Given the description of an element on the screen output the (x, y) to click on. 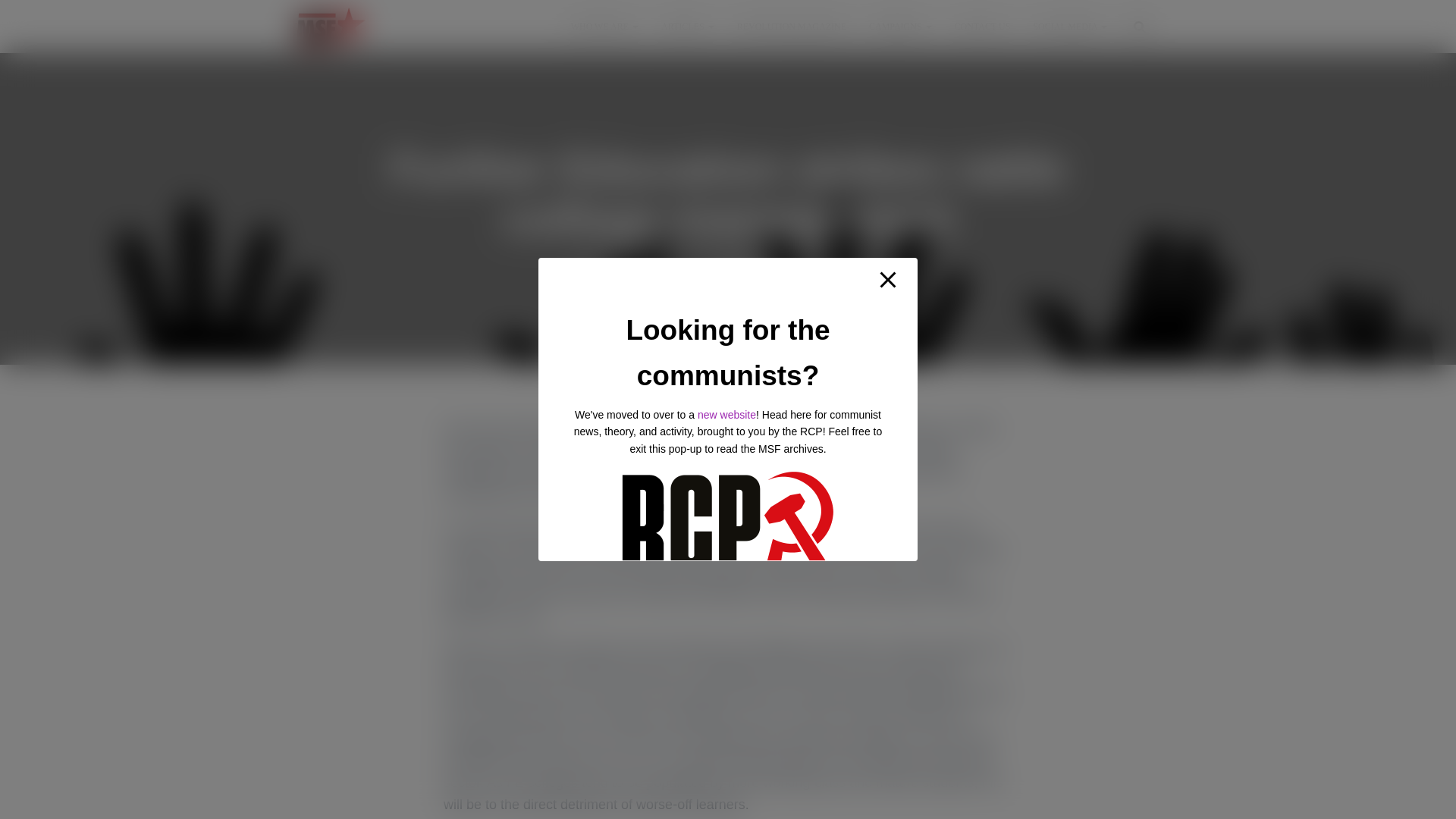
CAMPAIGNS (900, 26)
ARTICLES (687, 26)
REVOLUTION MAGAZINE (791, 26)
CONTACT US (982, 26)
Articles (687, 26)
Marxist Student Federation (330, 26)
SOCIAL MEDIA (1070, 26)
WHO WE ARE (604, 26)
Who we are (604, 26)
Search (3, 16)
